Given the description of an element on the screen output the (x, y) to click on. 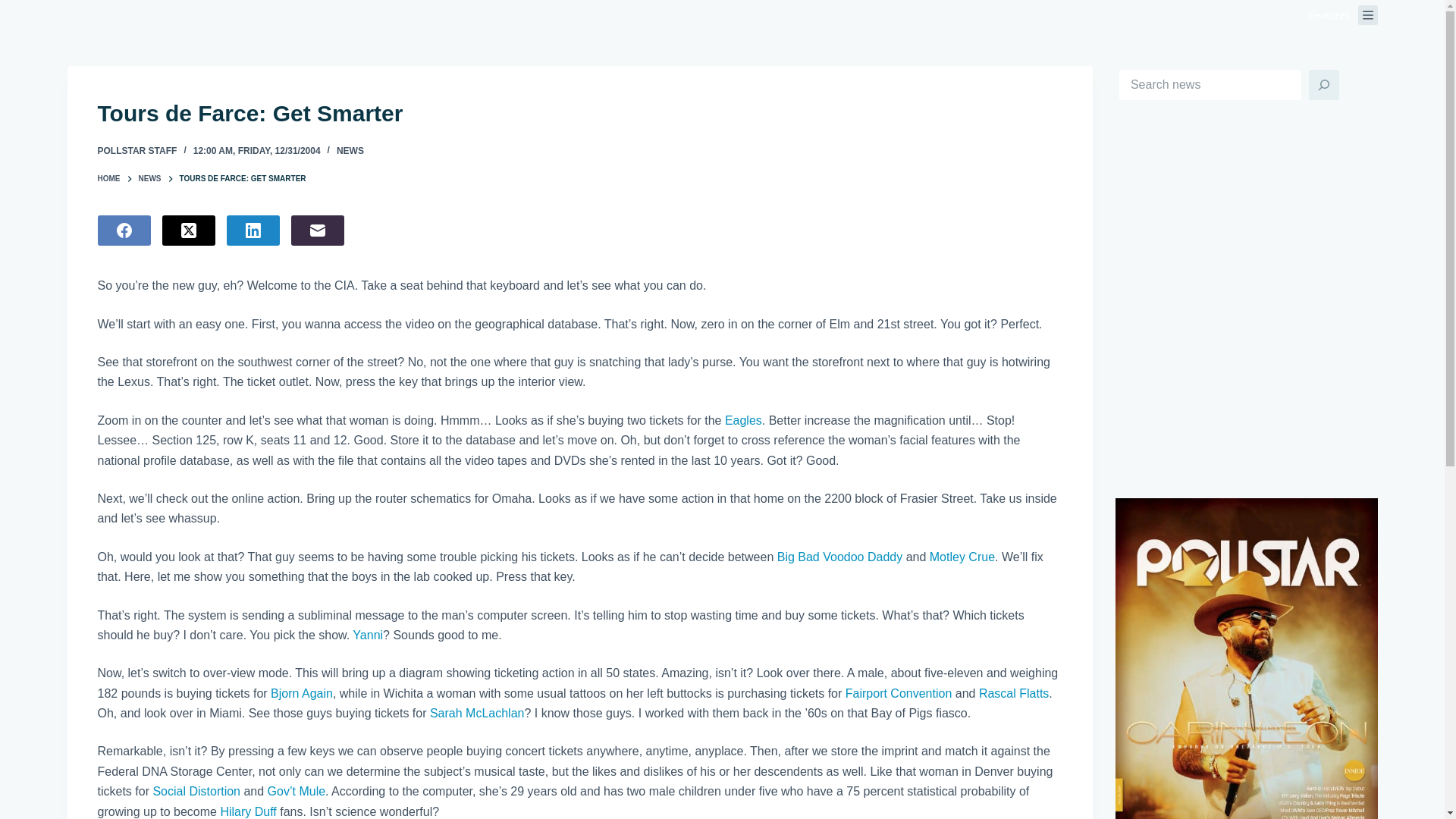
Posts by Pollstar Staff (136, 150)
Skip to content (15, 7)
Tours de Farce: Get Smarter (579, 113)
